Given the description of an element on the screen output the (x, y) to click on. 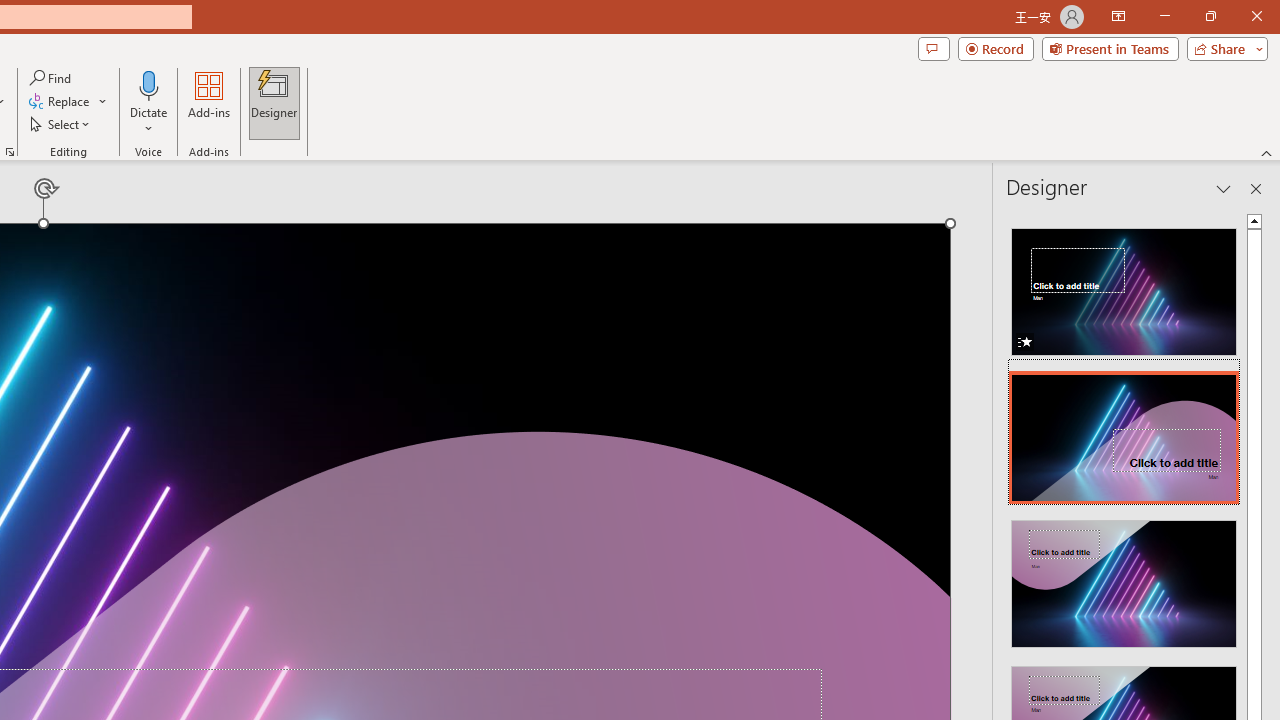
Recommended Design: Animation (1124, 286)
Design Idea (1124, 577)
